Given the description of an element on the screen output the (x, y) to click on. 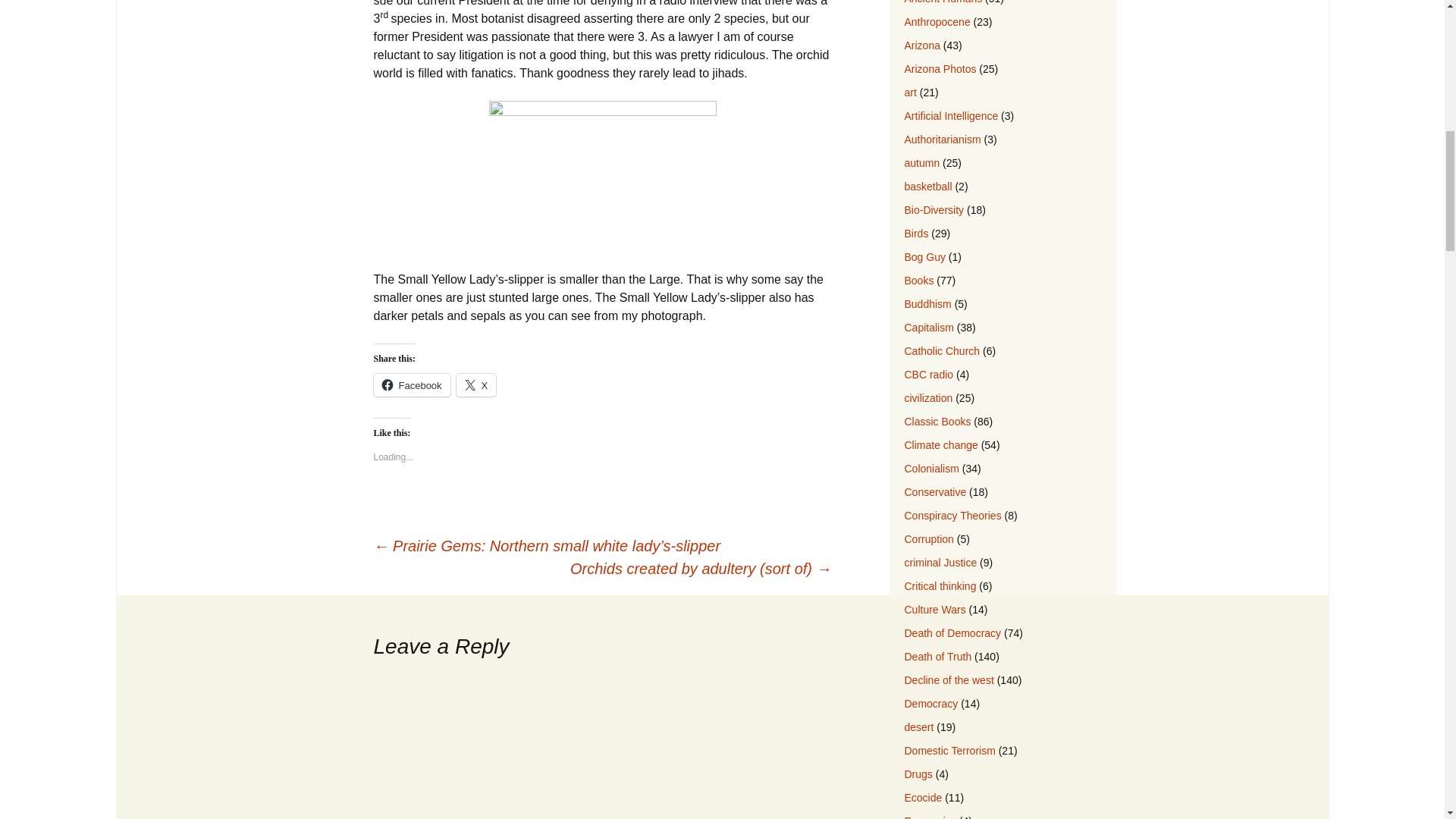
Click to share on X (476, 384)
Comment Form (601, 747)
X (476, 384)
Facebook (410, 384)
Click to share on Facebook (410, 384)
